Given the description of an element on the screen output the (x, y) to click on. 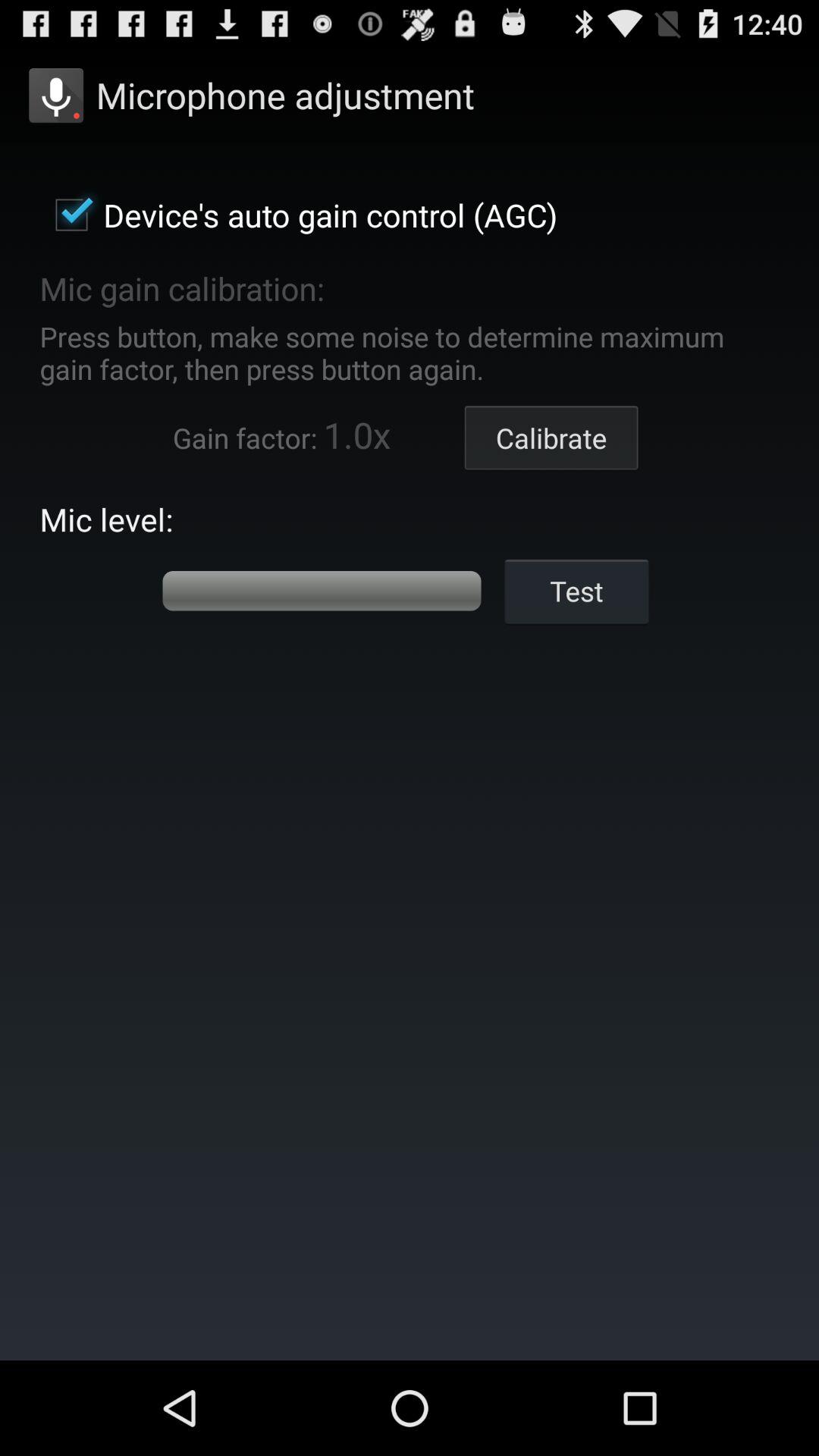
select the icon on the top left corner of the web page (56, 95)
click the test button (576, 590)
